Given the description of an element on the screen output the (x, y) to click on. 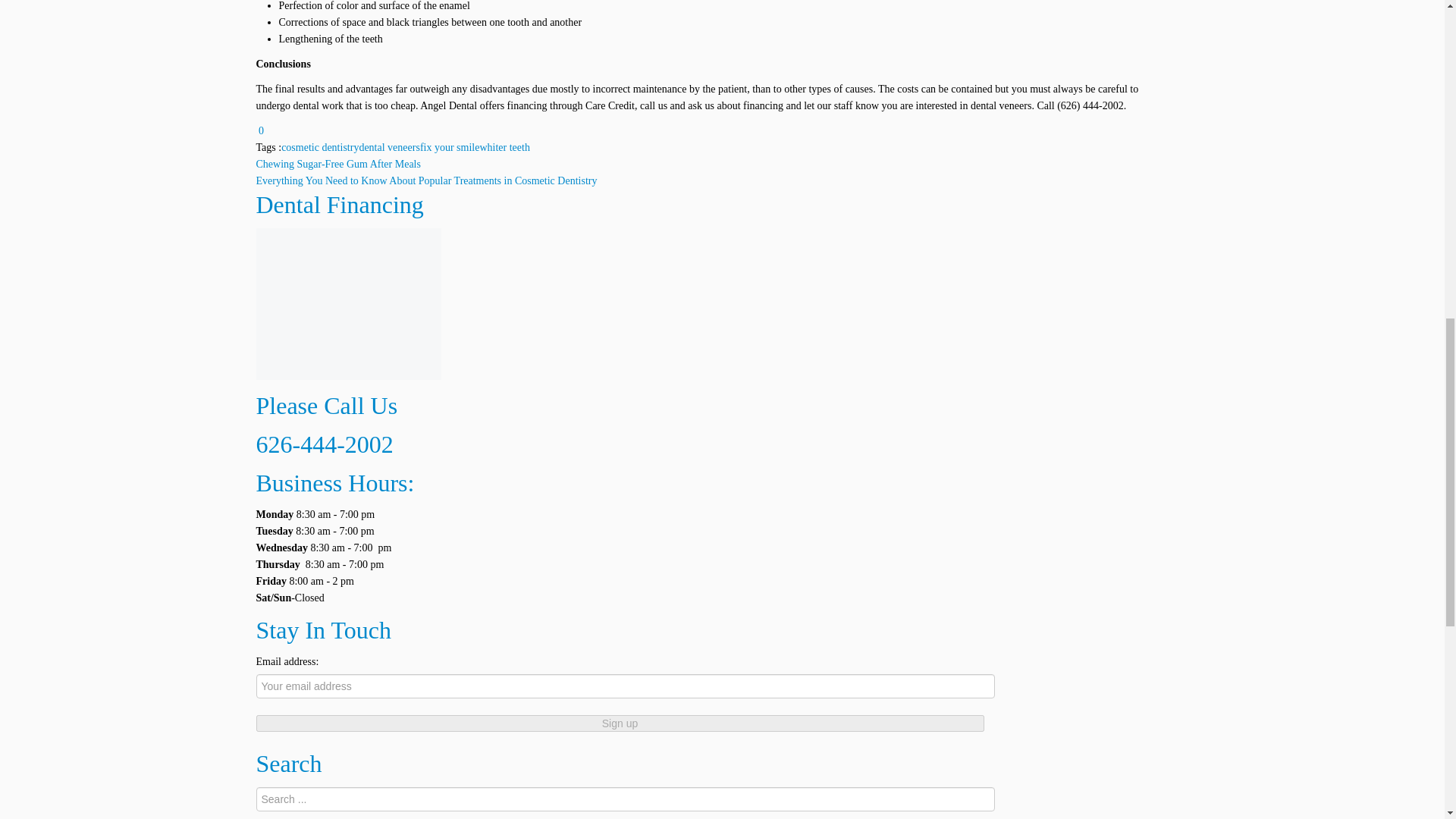
Sign up (620, 723)
Chewing Sugar-Free Gum After Meals (338, 163)
whiter teeth (504, 147)
Sign up (620, 723)
cosmetic dentistry (319, 147)
dental veneers (388, 147)
fix your smile (450, 147)
